Given the description of an element on the screen output the (x, y) to click on. 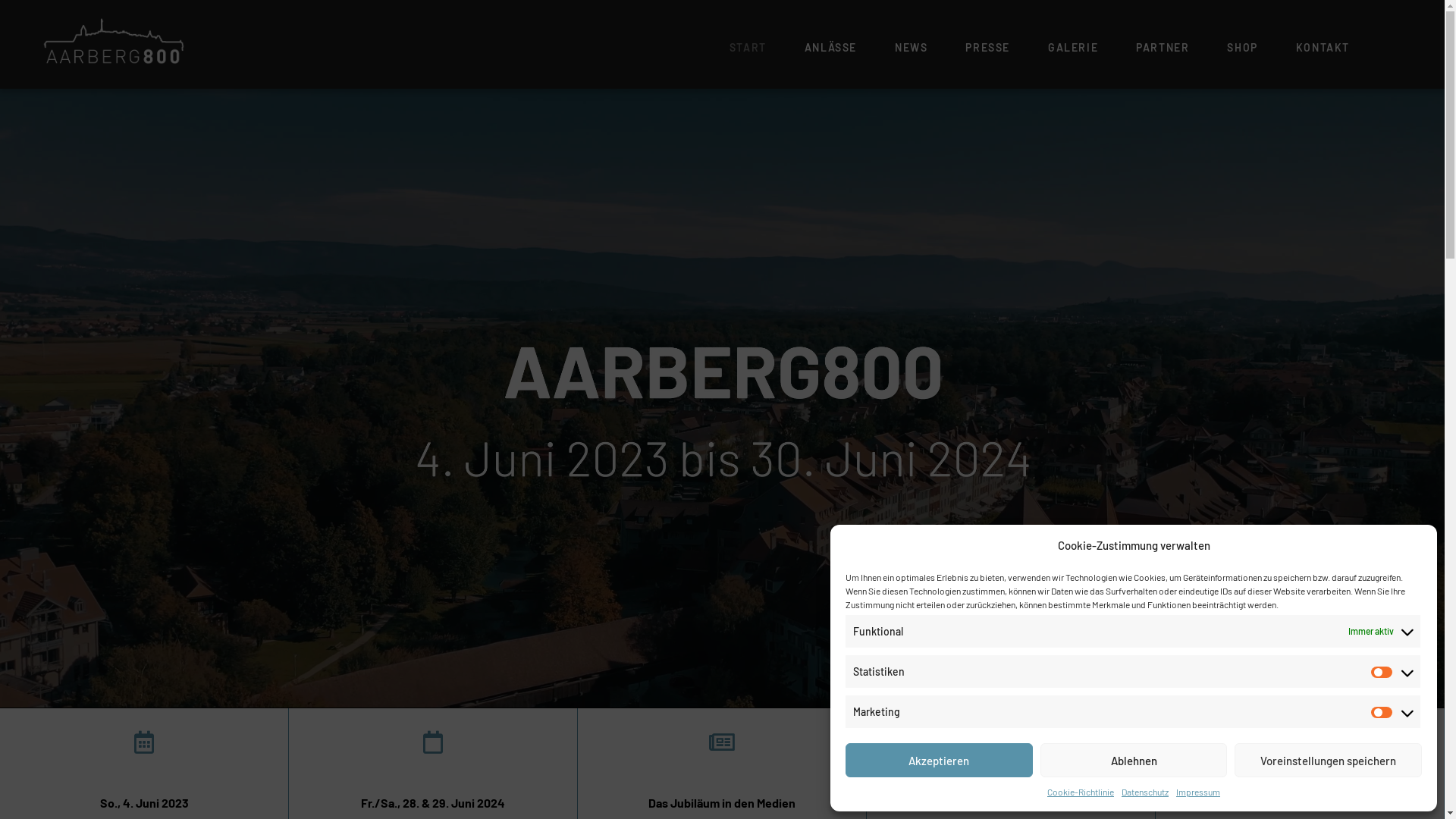
PARTNER Element type: text (1162, 47)
GALERIE Element type: text (1073, 47)
Ablehnen Element type: text (1133, 760)
Voreinstellungen speichern Element type: text (1327, 760)
Impressum Element type: text (1198, 792)
Presse Element type: text (721, 771)
NEWS Element type: text (910, 47)
Shop Element type: text (1010, 771)
START Element type: text (747, 47)
Startanlass Element type: text (143, 771)
PRESSE Element type: text (987, 47)
Cookie-Richtlinie Element type: text (1080, 792)
KONTAKT Element type: text (1322, 47)
Akzeptieren Element type: text (938, 760)
SHOP Element type: text (1242, 47)
Datenschutz Element type: text (1144, 792)
